Given the description of an element on the screen output the (x, y) to click on. 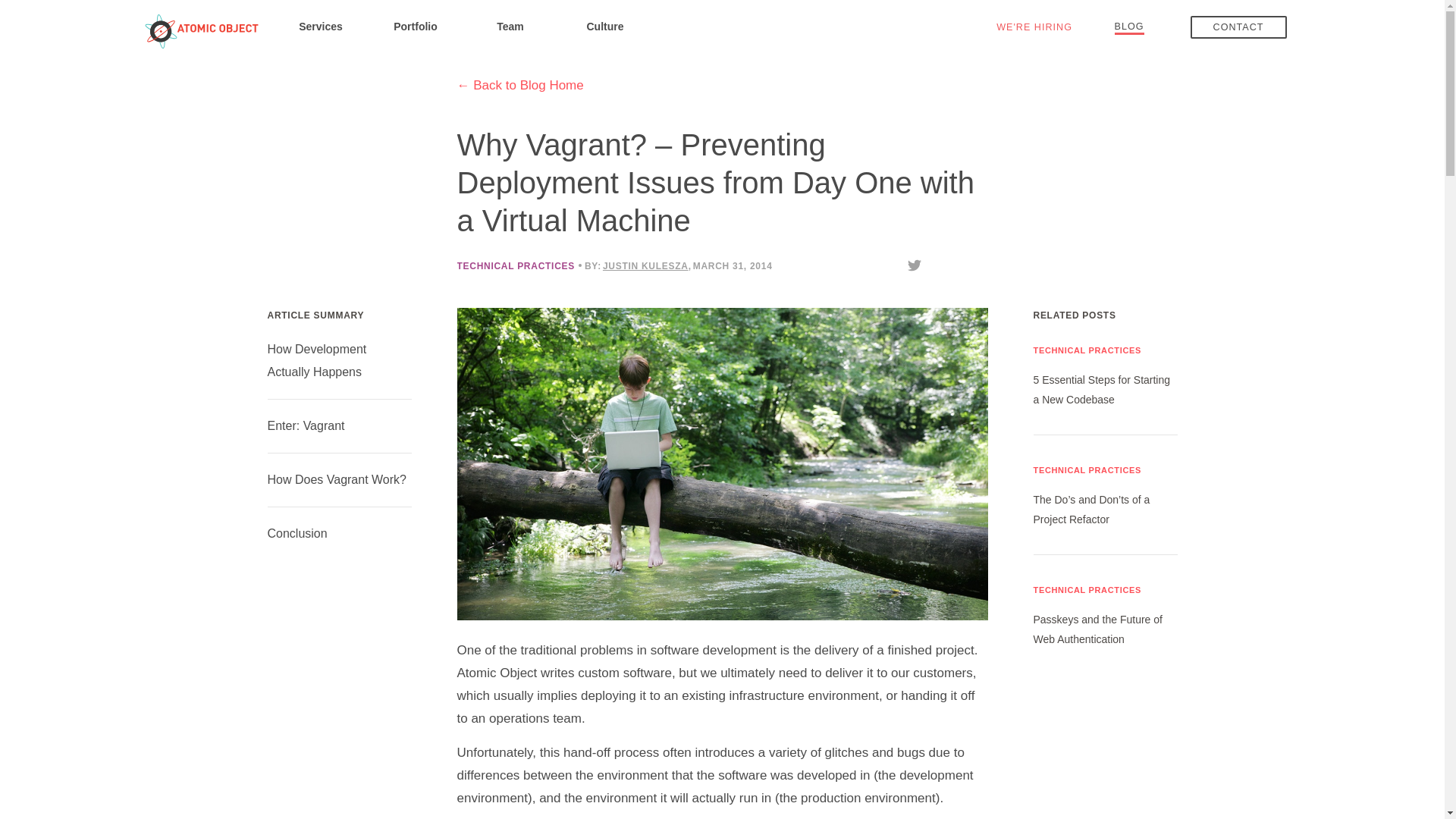
Portfolio (415, 26)
HACKERNEWS (981, 264)
WE'RE HIRING (1033, 27)
TECHNICAL PRACTICES (515, 264)
Conclusion (296, 532)
How Development Actually Happens (316, 360)
Culture (605, 26)
CONTACT (1239, 26)
LINKEDIN (957, 264)
How Does Vagrant Work? (336, 479)
TWITTER (914, 264)
BLOG (1129, 26)
Enter: Vagrant (304, 424)
FACEBOOK (936, 264)
Team (510, 26)
